Given the description of an element on the screen output the (x, y) to click on. 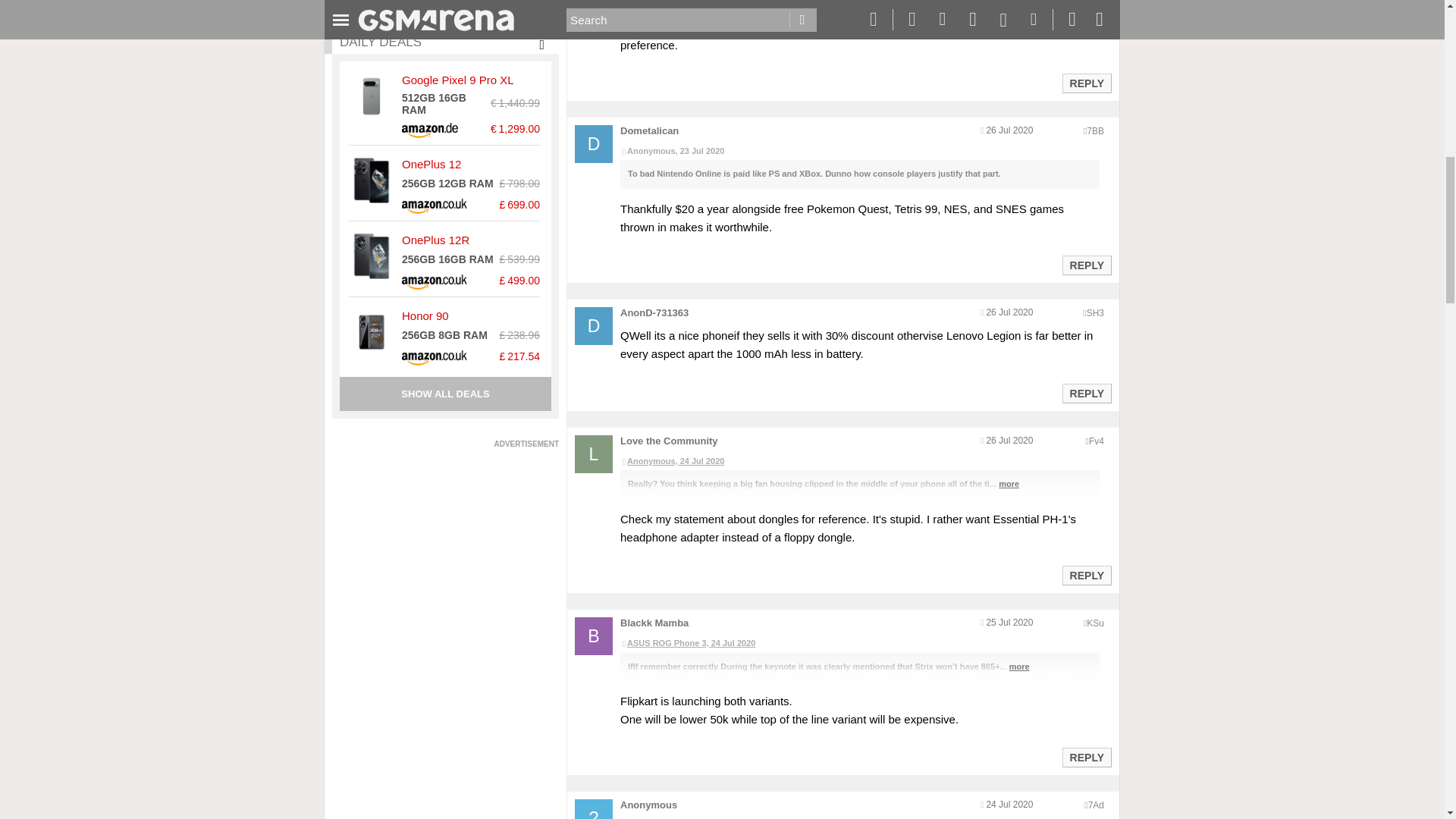
Encoded anonymized location (1094, 131)
Reply to this post (1086, 393)
Encoded anonymized location (1094, 623)
Encoded anonymized location (1095, 805)
Reply to this post (1086, 575)
Reply to this post (1086, 82)
Reply to this post (1086, 757)
Encoded anonymized location (1096, 440)
Reply to this post (1086, 265)
Encoded anonymized location (1094, 312)
